Given the description of an element on the screen output the (x, y) to click on. 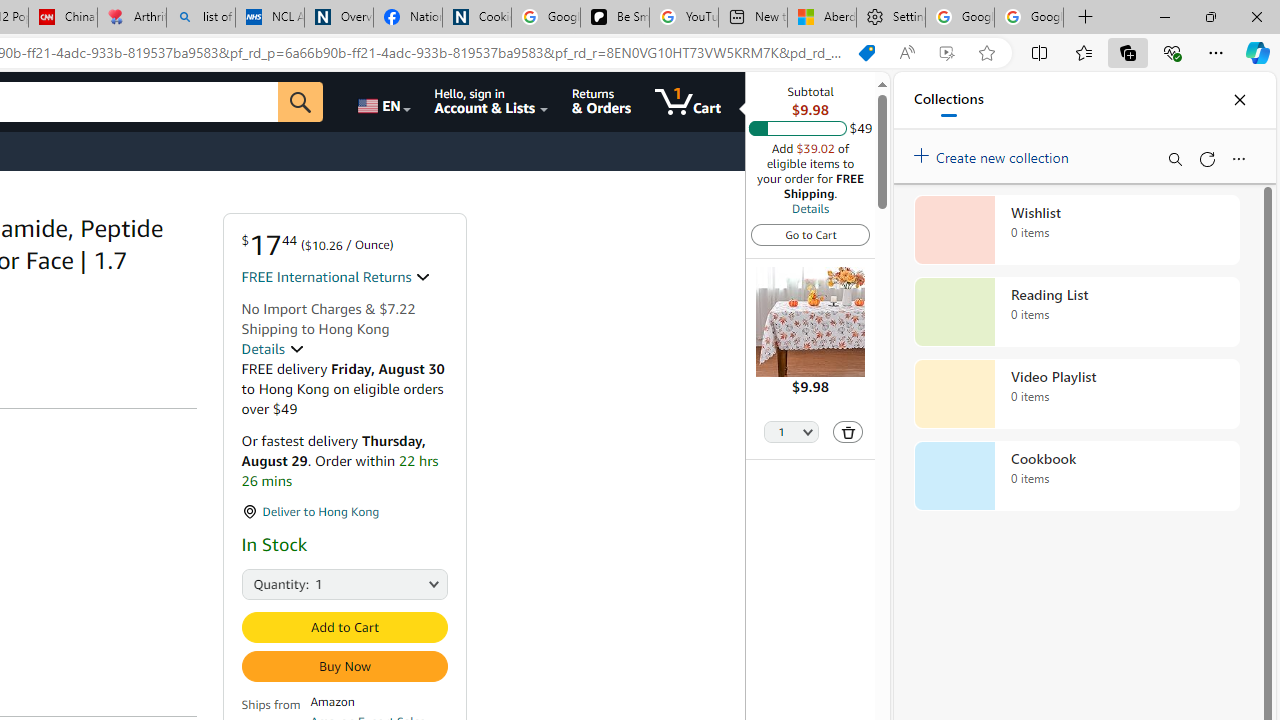
Video Playlist collection, 0 items (1076, 394)
Details  (272, 349)
Delete (847, 431)
Reading List collection, 0 items (1076, 312)
Quantity Selector (792, 433)
Aberdeen, Hong Kong SAR hourly forecast | Microsoft Weather (822, 17)
Cookbook collection, 0 items (1076, 475)
